Given the description of an element on the screen output the (x, y) to click on. 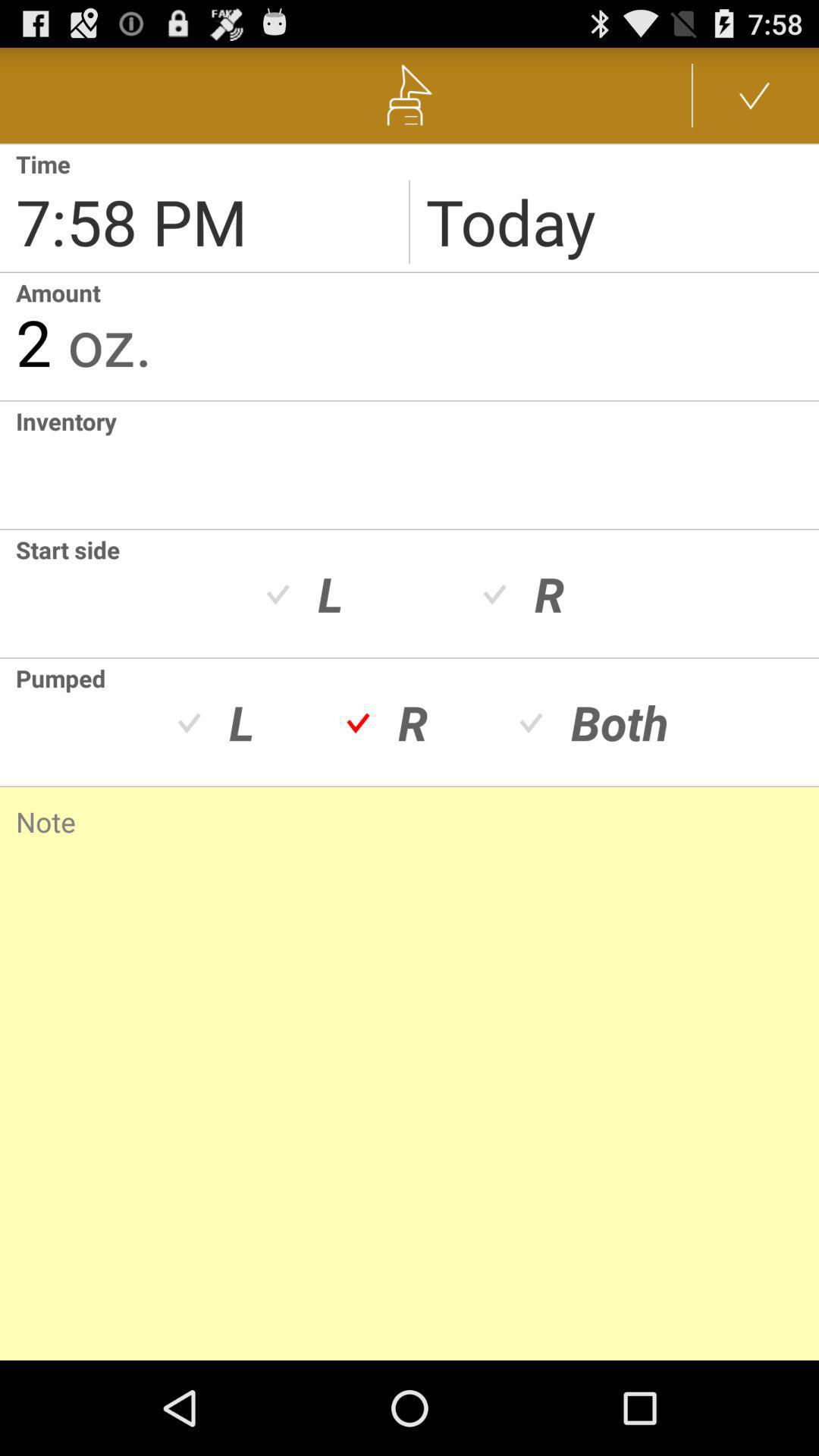
enter inventory (417, 464)
